Given the description of an element on the screen output the (x, y) to click on. 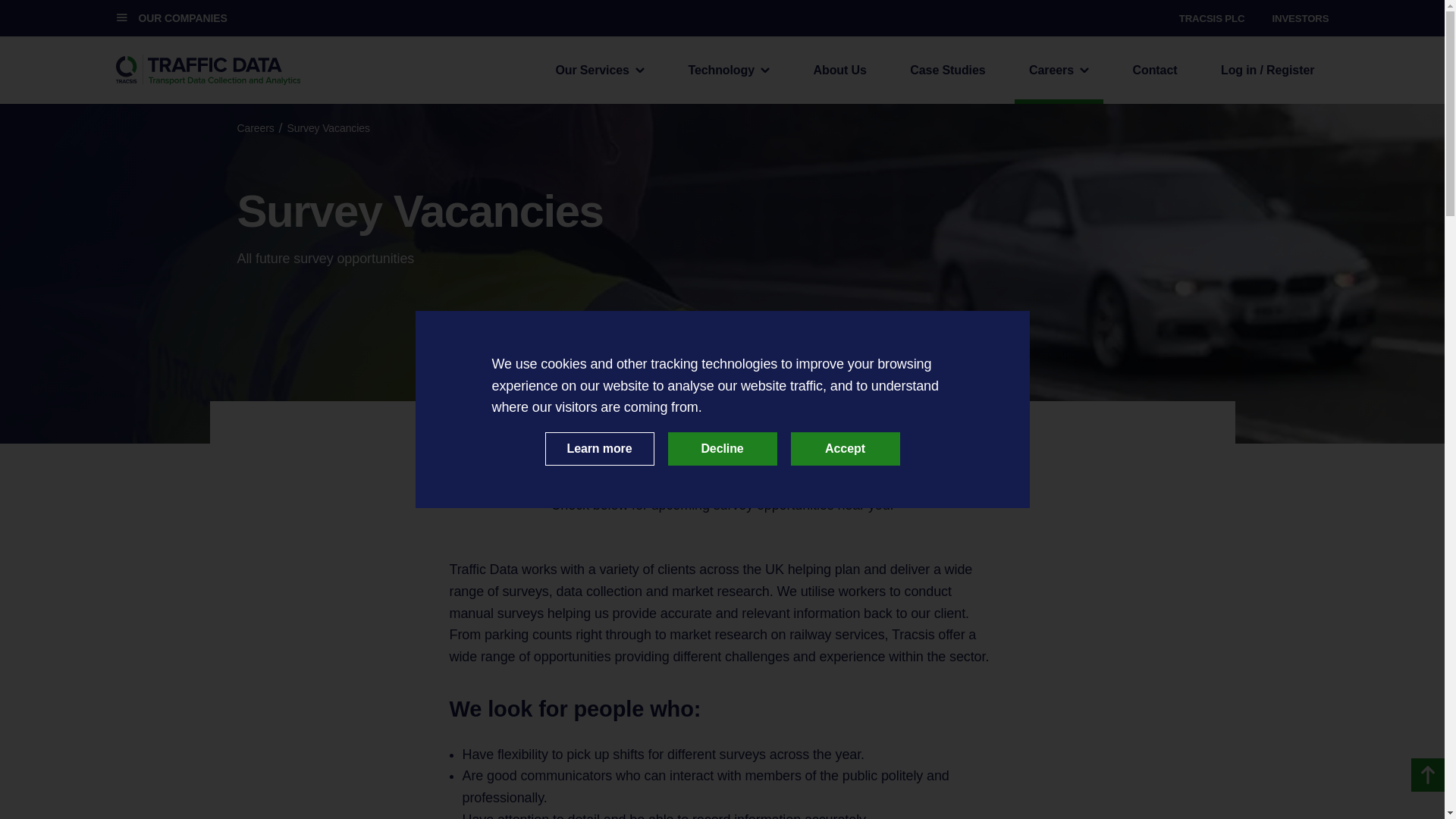
Technology (728, 70)
Case Studies (947, 70)
Careers (1058, 70)
Our Services (599, 70)
Contact (1154, 70)
About Us (838, 70)
INVESTORS (1299, 18)
TRACSIS PLC (1211, 18)
